Given the description of an element on the screen output the (x, y) to click on. 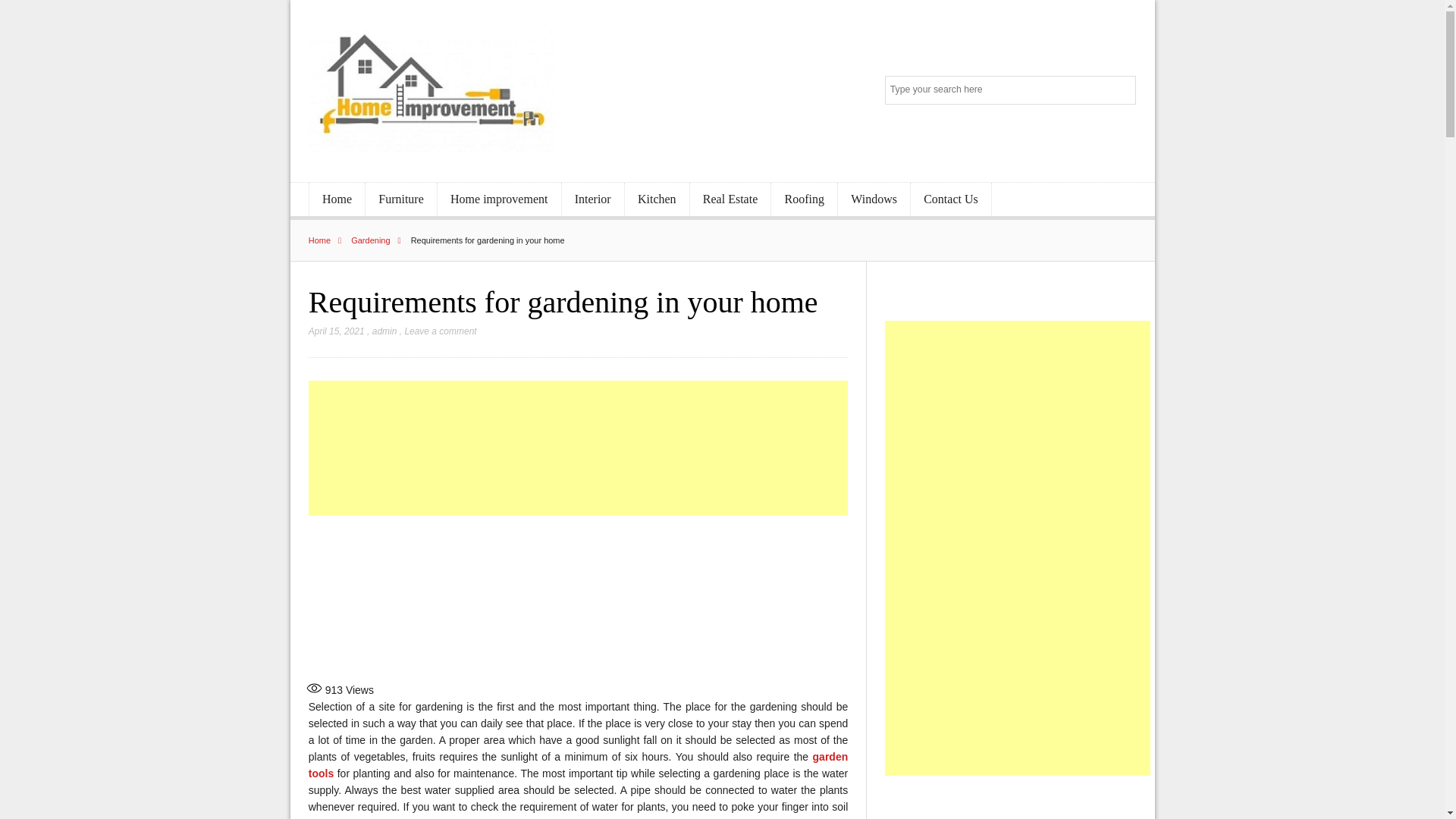
Leave a comment (440, 330)
Home improvement (499, 199)
Roofing (804, 199)
Posts by admin (384, 330)
Home (328, 239)
Search (1123, 91)
Interior (593, 199)
Contact Us (951, 199)
admin (384, 330)
garden tools (578, 765)
Kitchen (656, 199)
Furniture (400, 199)
Windows (874, 199)
Real Estate (730, 199)
Home (336, 199)
